Given the description of an element on the screen output the (x, y) to click on. 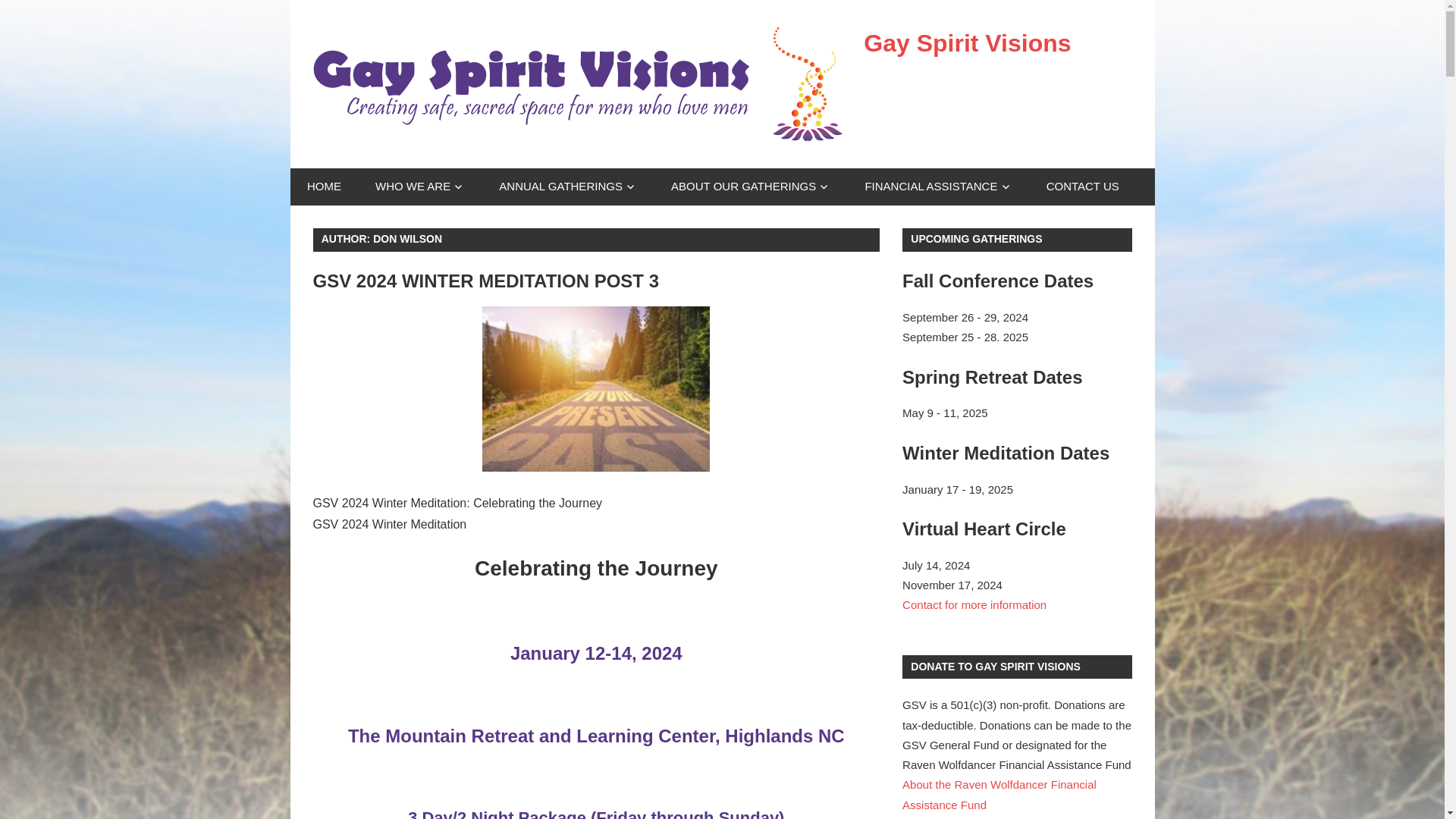
FINANCIAL ASSISTANCE (938, 186)
Gay Spirit Visions (966, 42)
ABOUT OUR GATHERINGS (750, 186)
HOME (323, 186)
CONTACT US (1082, 186)
ANNUAL GATHERINGS (567, 186)
GSV 2024 WINTER MEDITATION POST 3 (486, 281)
WHO WE ARE (419, 186)
